Given the description of an element on the screen output the (x, y) to click on. 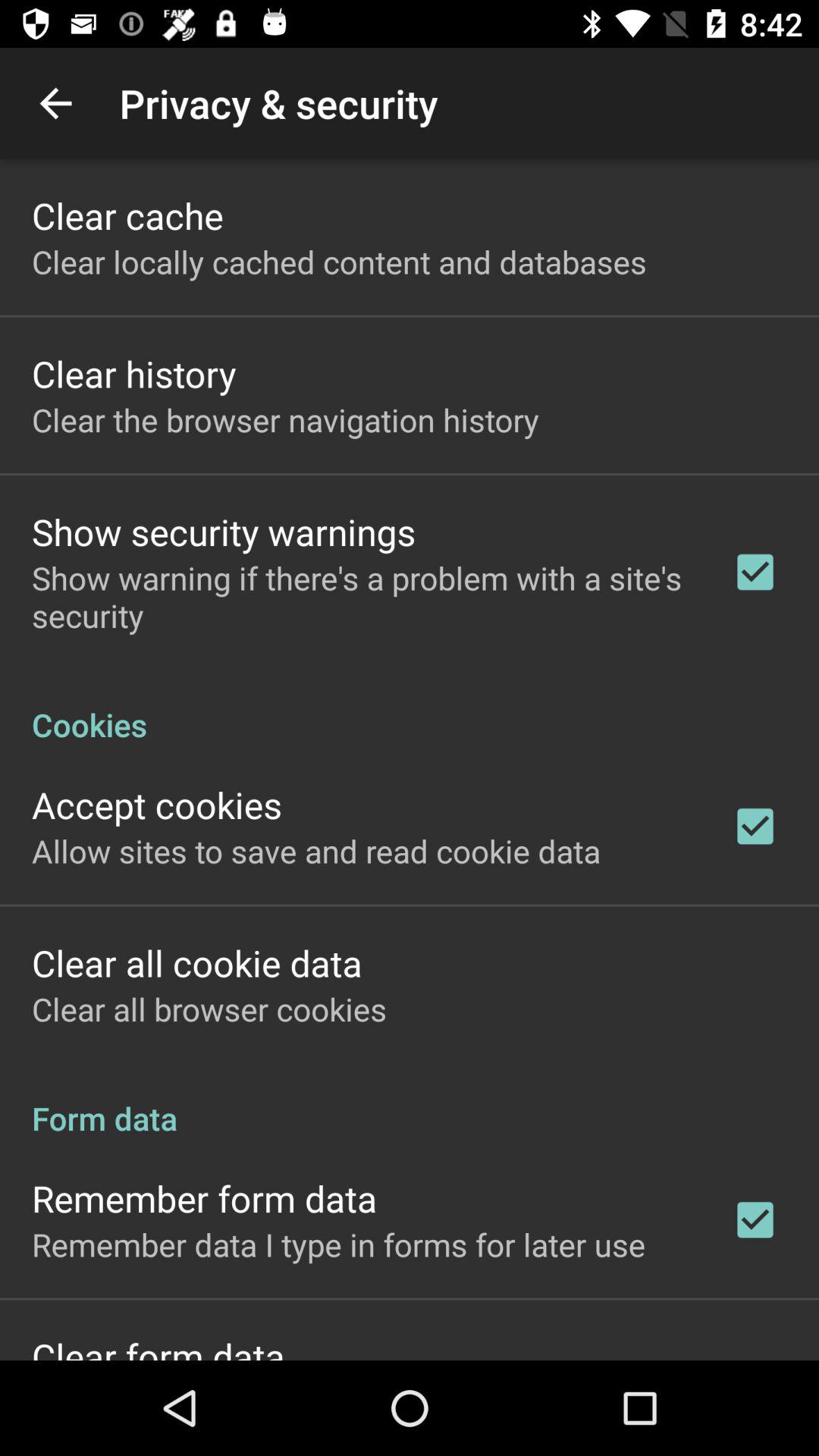
swipe to clear locally cached icon (338, 261)
